Given the description of an element on the screen output the (x, y) to click on. 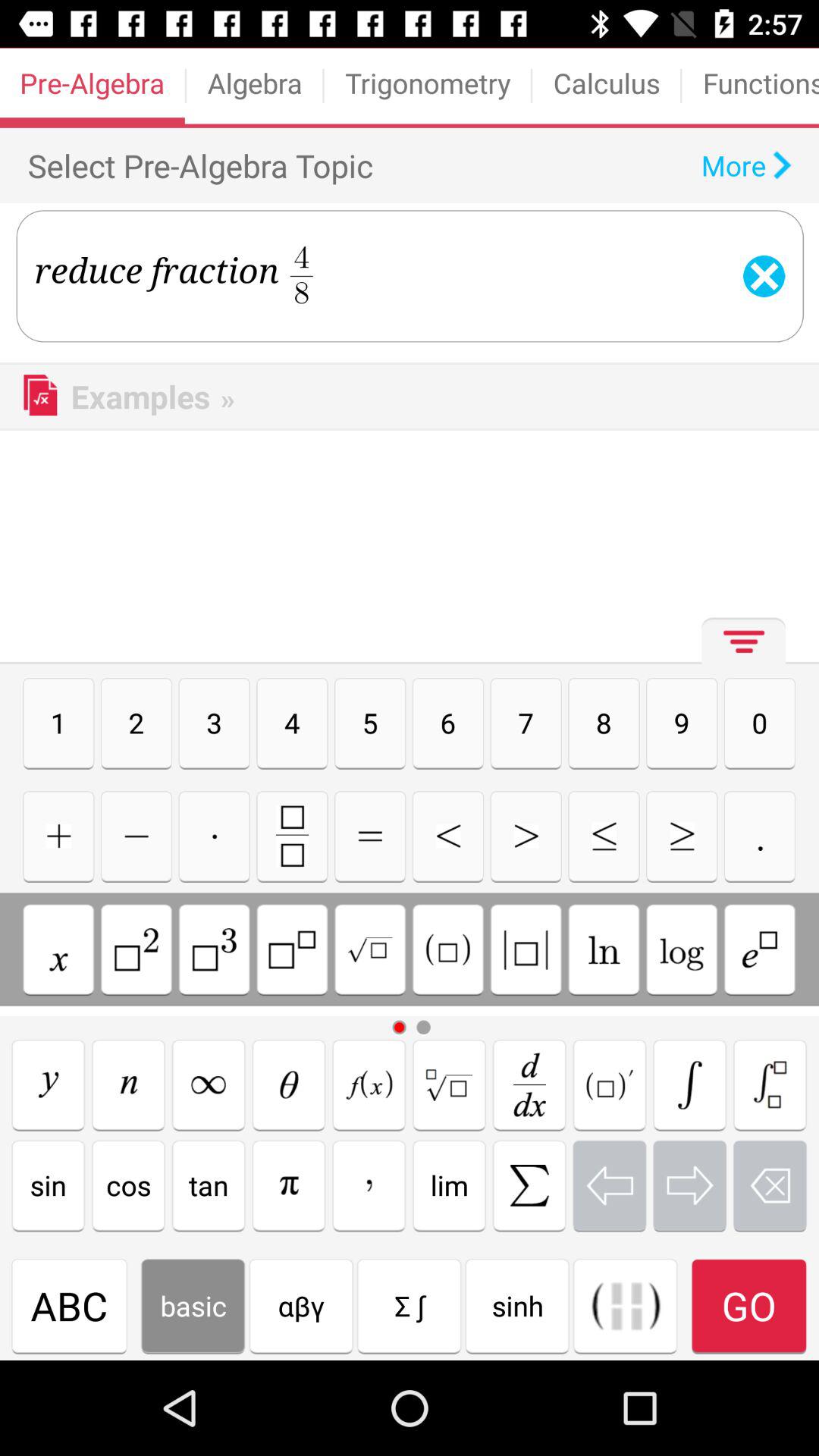
go to previous (609, 1185)
